Given the description of an element on the screen output the (x, y) to click on. 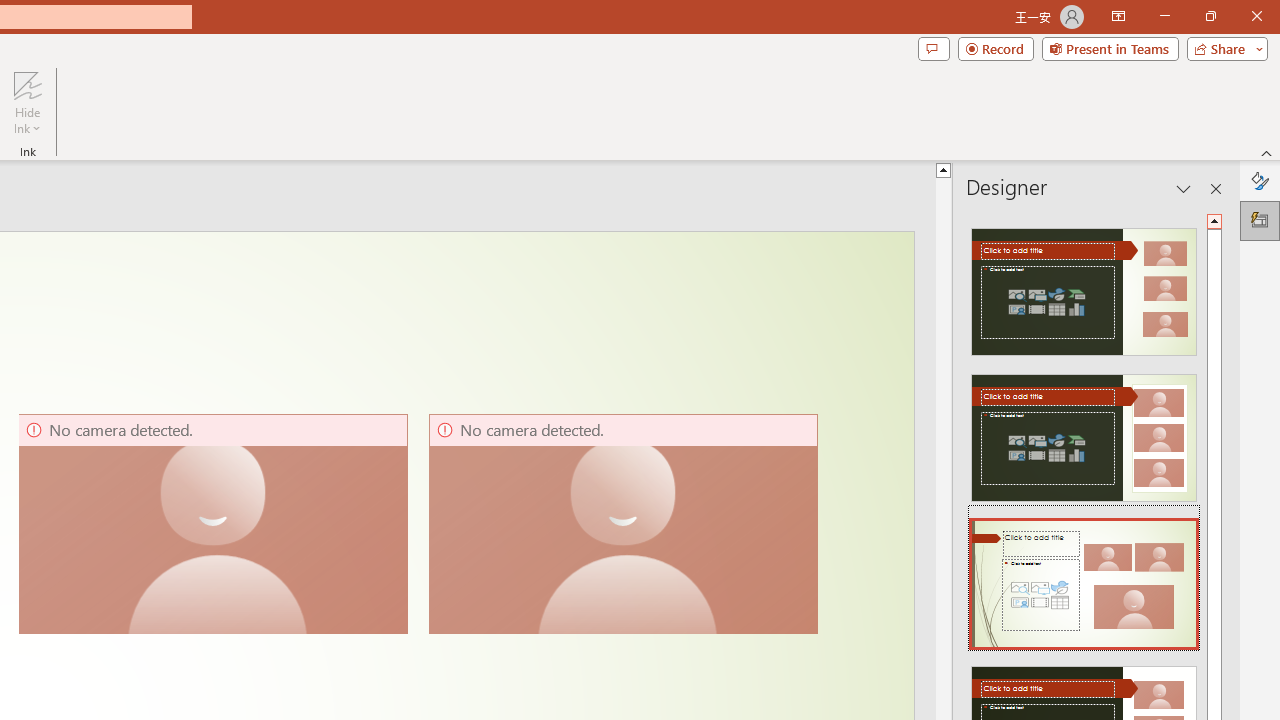
Design Idea (1083, 577)
Line up (943, 169)
Format Background (1260, 180)
Class: NetUIImage (1083, 584)
Hide Ink (27, 84)
Designer (1260, 220)
Task Pane Options (1183, 188)
